Given the description of an element on the screen output the (x, y) to click on. 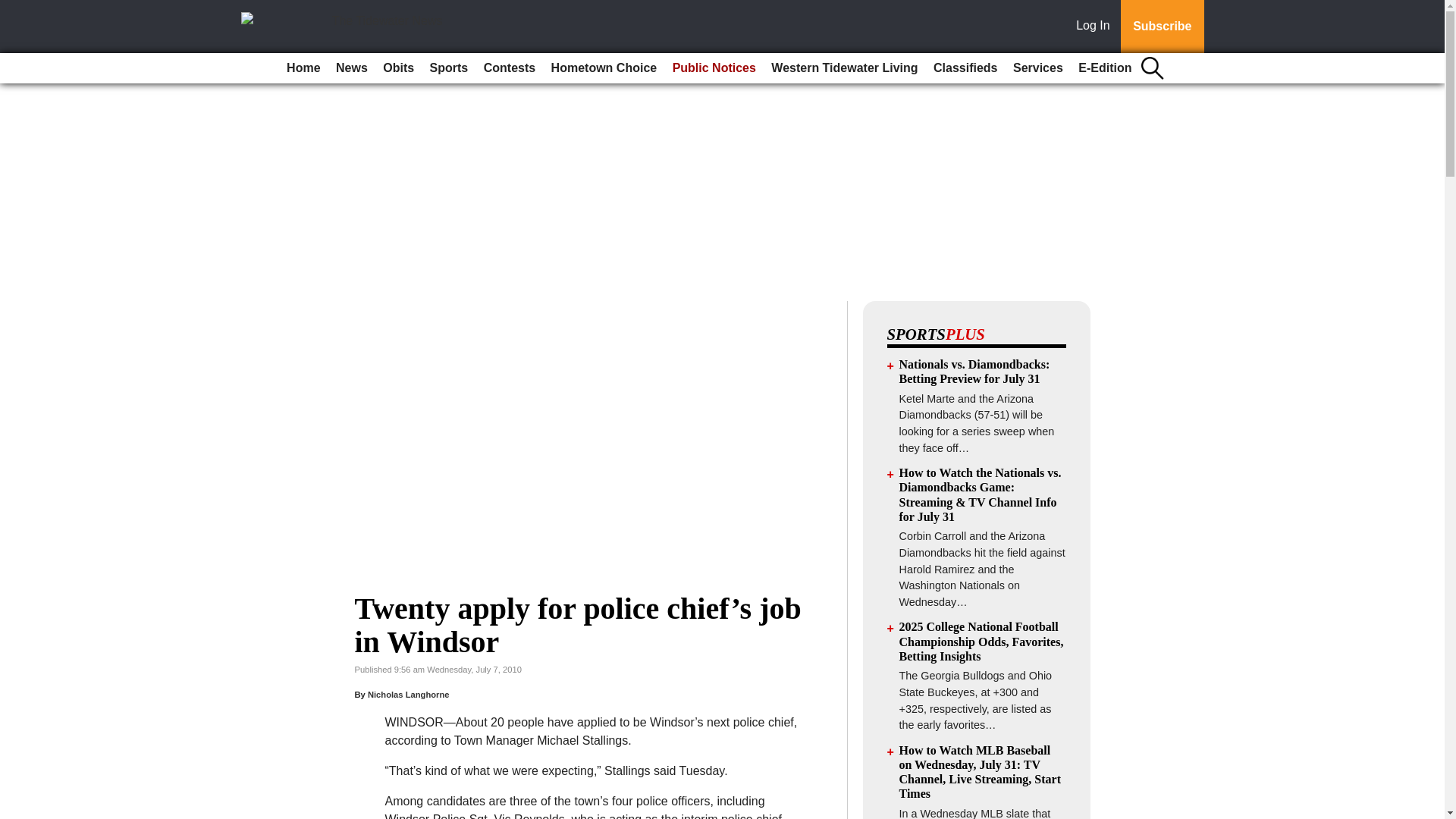
Go (13, 9)
Nicholas Langhorne (408, 694)
Western Tidewater Living (844, 68)
Services (1037, 68)
Log In (1095, 26)
Classifieds (965, 68)
E-Edition (1104, 68)
Sports (448, 68)
Public Notices (713, 68)
Hometown Choice (603, 68)
News (352, 68)
Contests (509, 68)
Home (303, 68)
Subscribe (1162, 26)
Obits (398, 68)
